Given the description of an element on the screen output the (x, y) to click on. 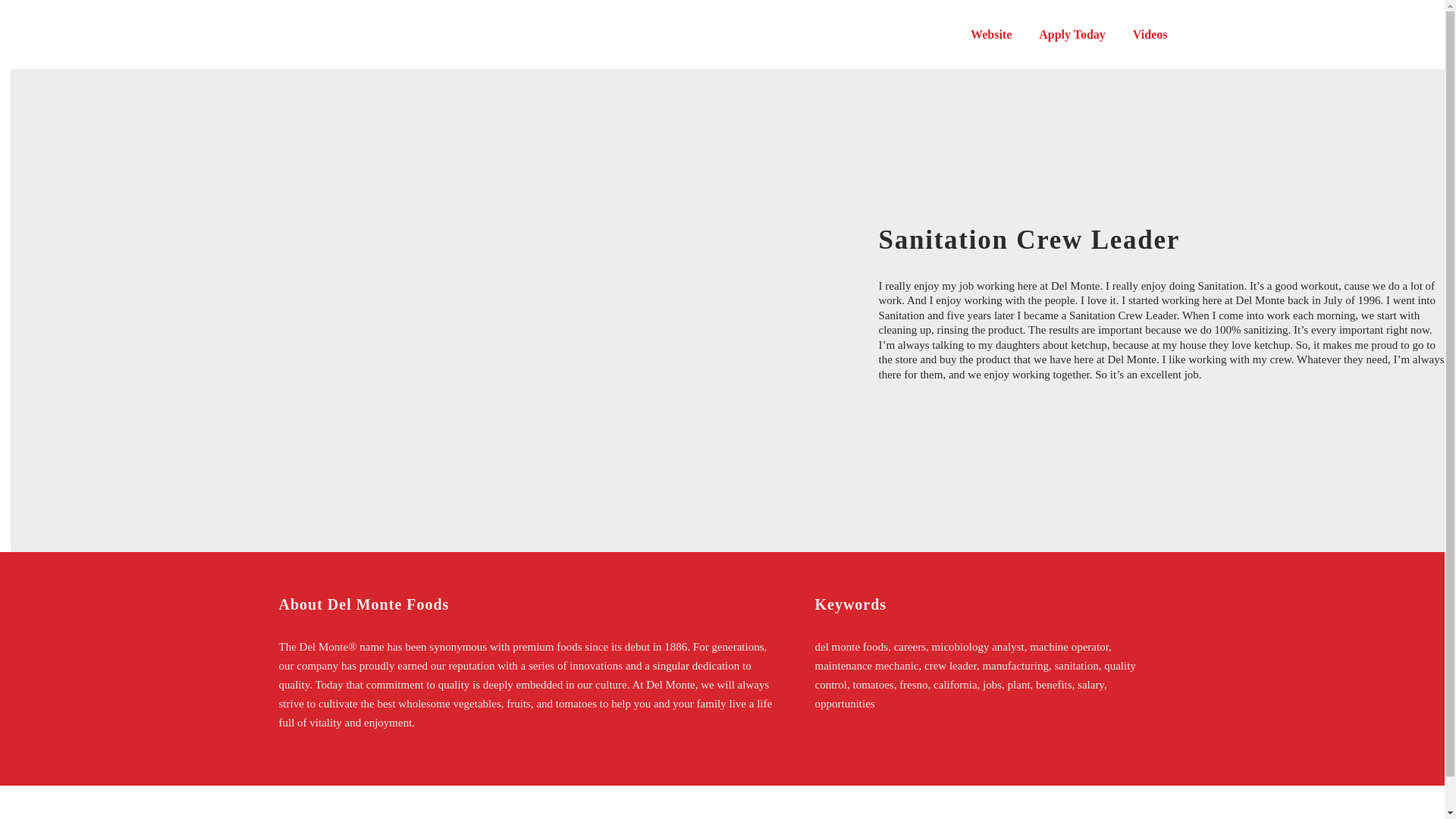
Website (991, 34)
Apply Today (1071, 34)
Videos (1149, 34)
